Given the description of an element on the screen output the (x, y) to click on. 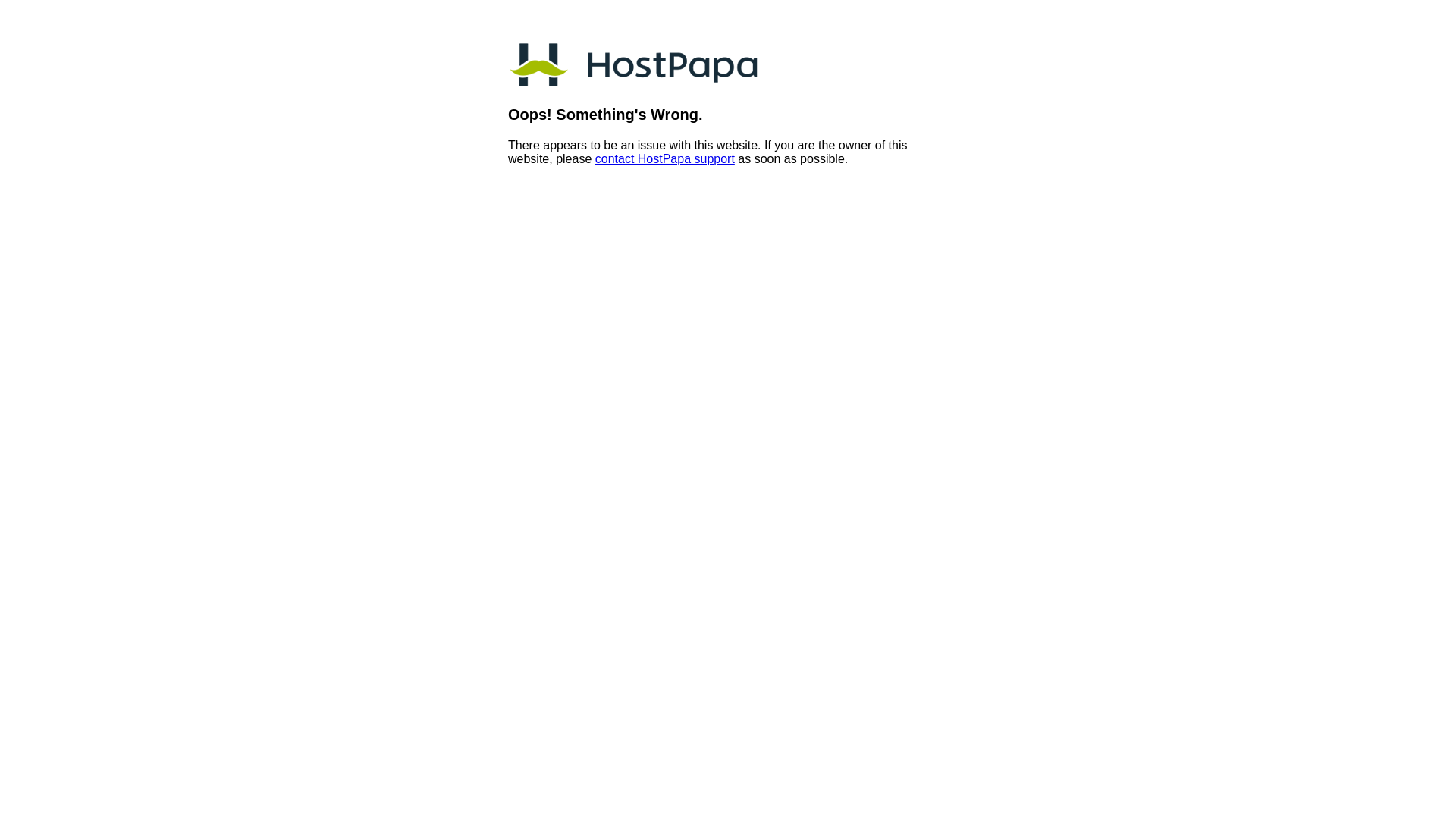
contact HostPapa support Element type: text (664, 158)
